Given the description of an element on the screen output the (x, y) to click on. 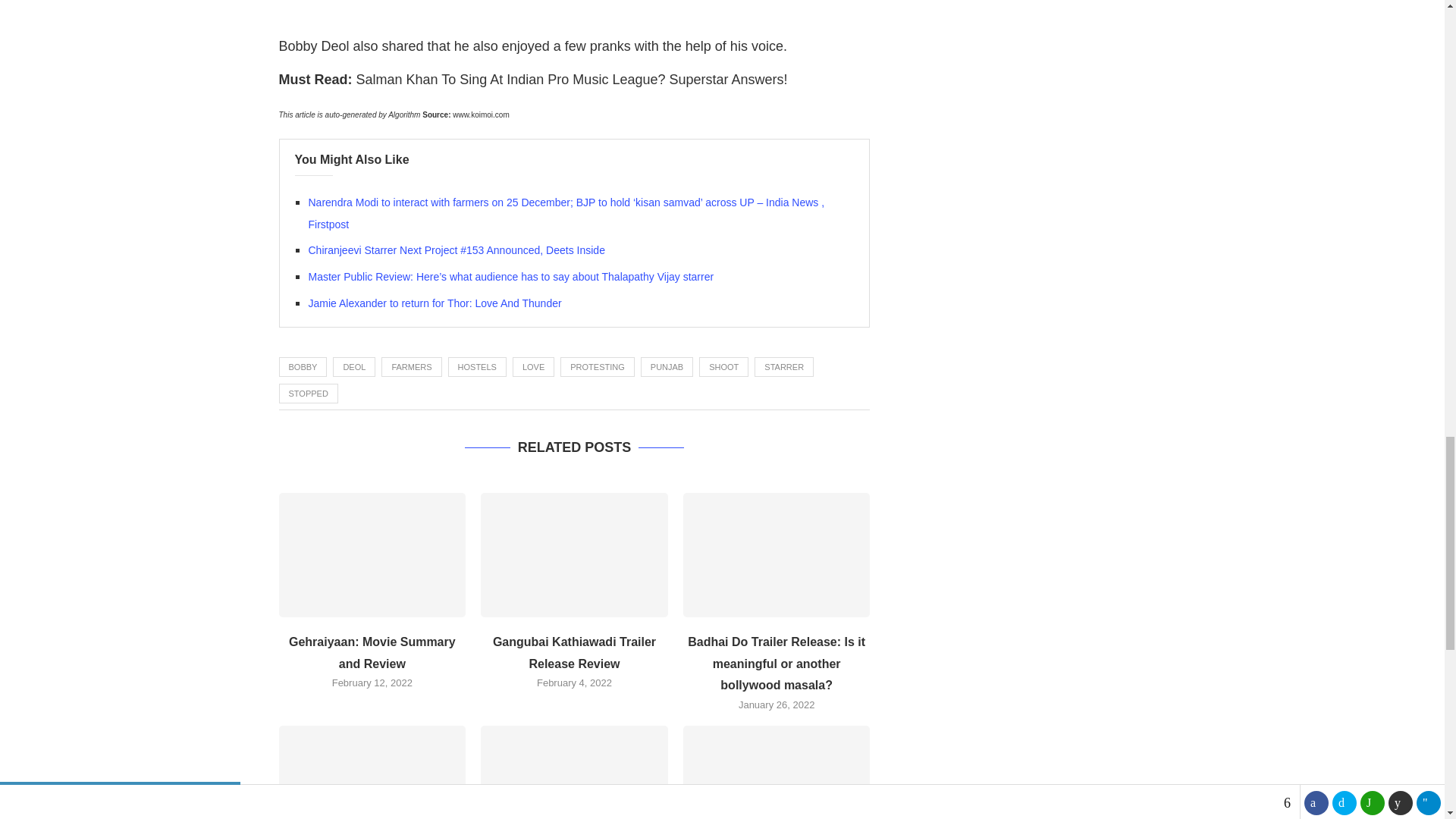
5 Times Bollywood Romanticized Toxic Relationships (776, 772)
Gangubai Kathiawadi Trailer Release Review (574, 555)
Bollywood 5 Most Memorable Female Characters of 2021 (372, 772)
Gehraiyaan: Movie Summary and Review (372, 555)
